Given the description of an element on the screen output the (x, y) to click on. 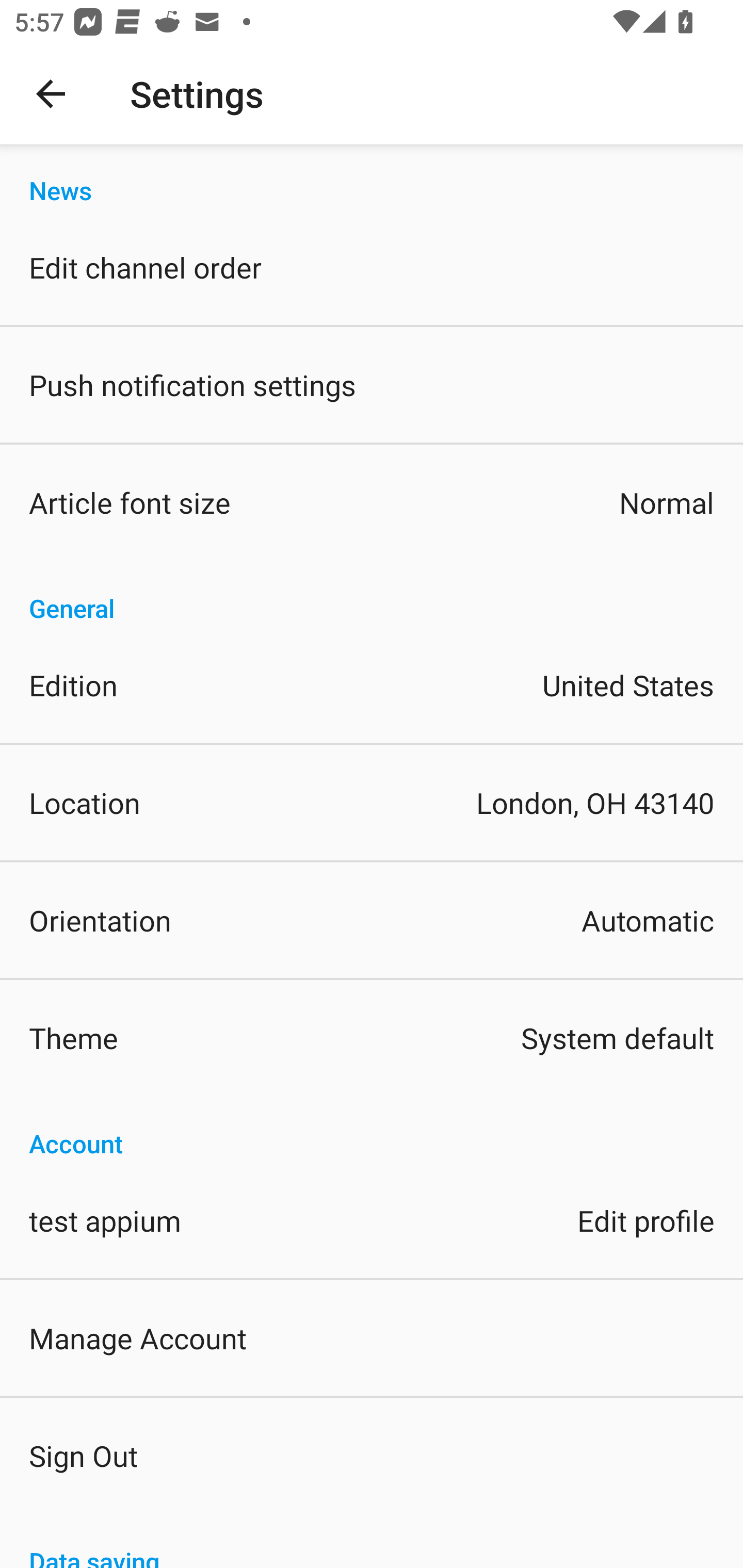
Navigate up (50, 93)
Edit channel order (371, 267)
Push notification settings (371, 384)
Article font size Normal (371, 502)
Edition United States (371, 685)
Location London, OH 43140 (371, 802)
Orientation Automatic (371, 920)
Theme System default (371, 1038)
test appium Edit profile (371, 1219)
Manage Account (371, 1337)
Sign Out (371, 1455)
